Given the description of an element on the screen output the (x, y) to click on. 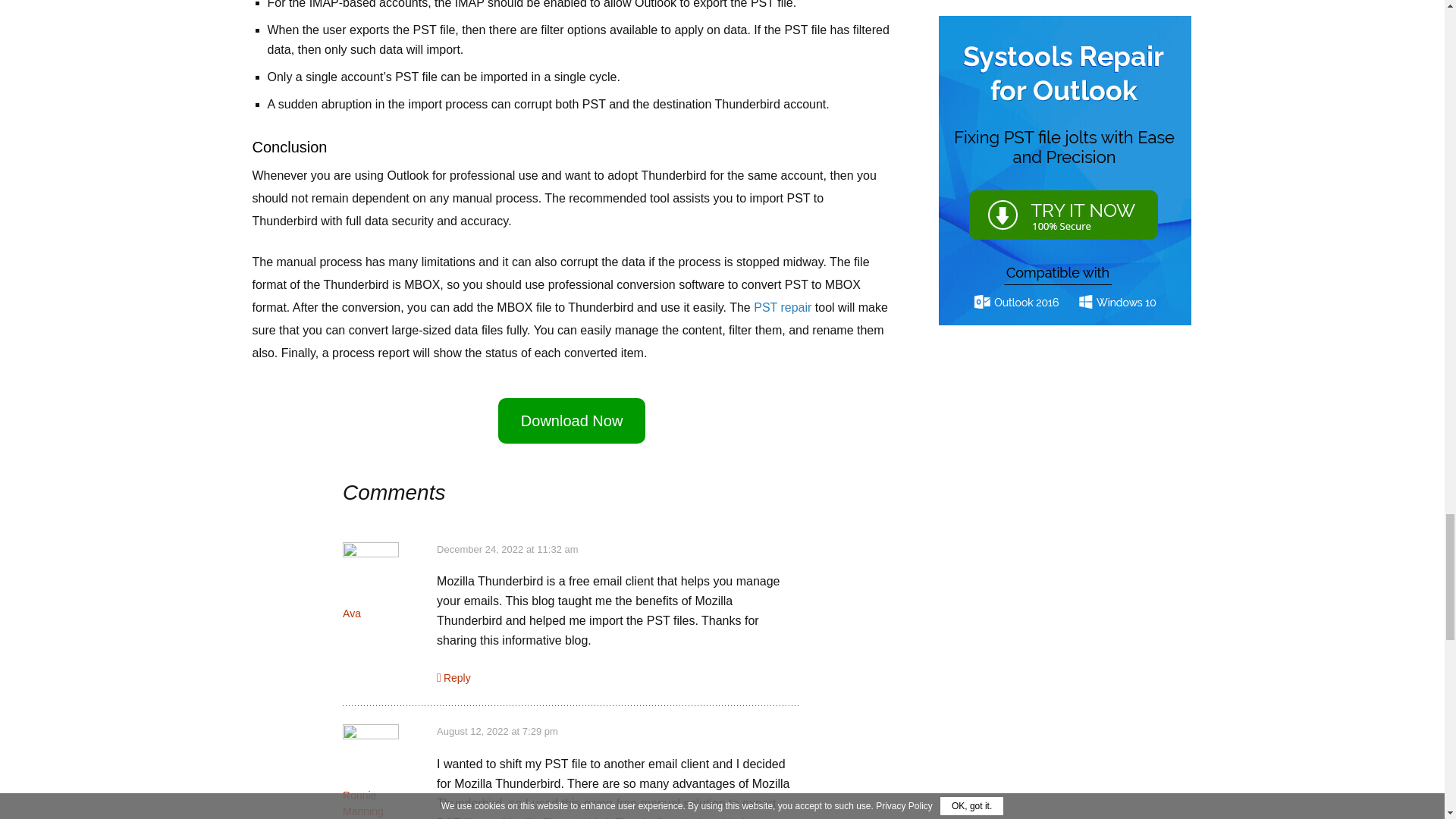
Reply (453, 677)
December 24, 2022 at 11:32 am (507, 549)
Download Now (571, 420)
PST repair (782, 307)
August 12, 2022 at 7:29 pm (496, 731)
